Given the description of an element on the screen output the (x, y) to click on. 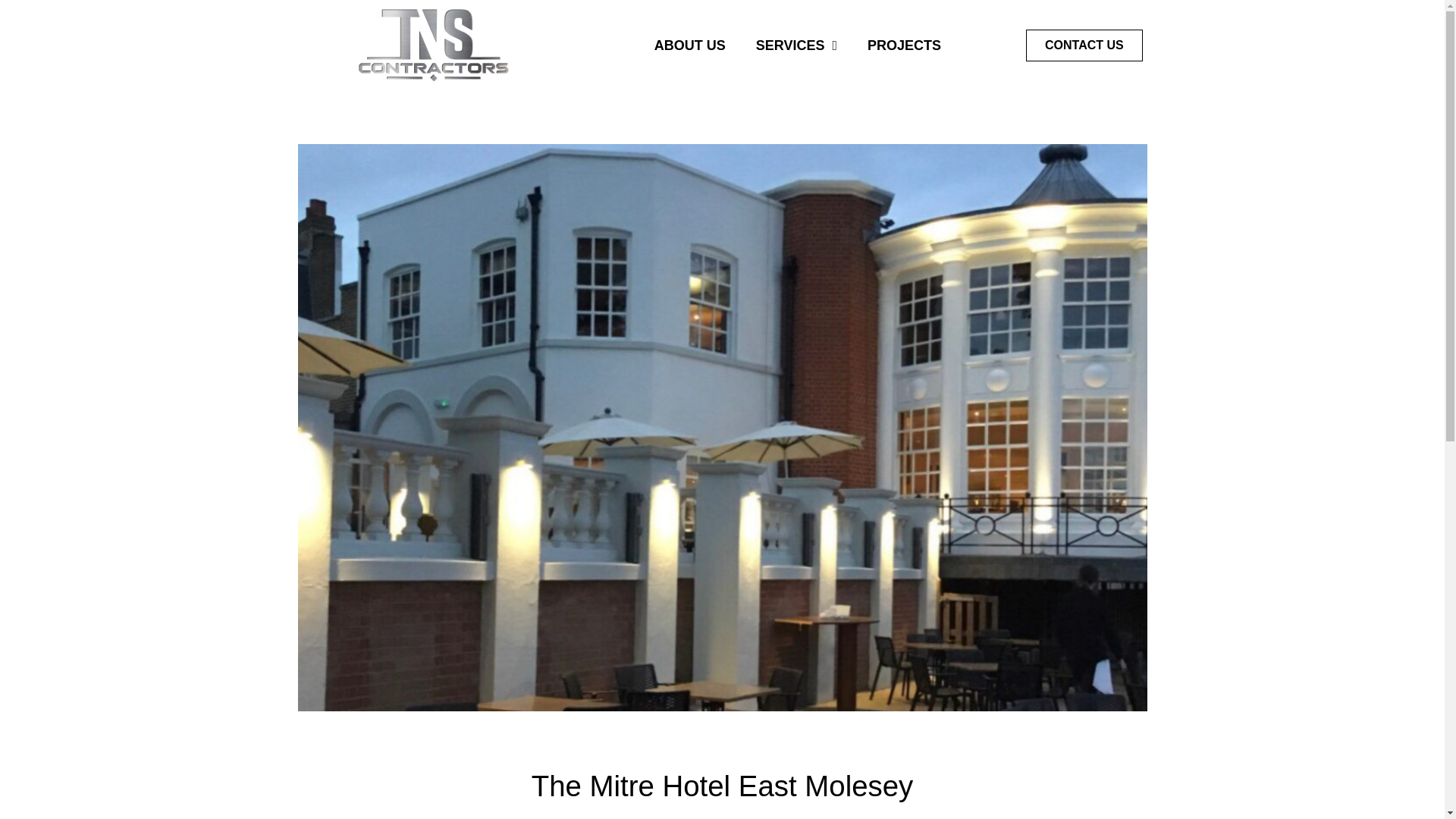
PROJECTS (903, 45)
SERVICES (796, 45)
ABOUT US (690, 45)
CONTACT US (1084, 45)
